Given the description of an element on the screen output the (x, y) to click on. 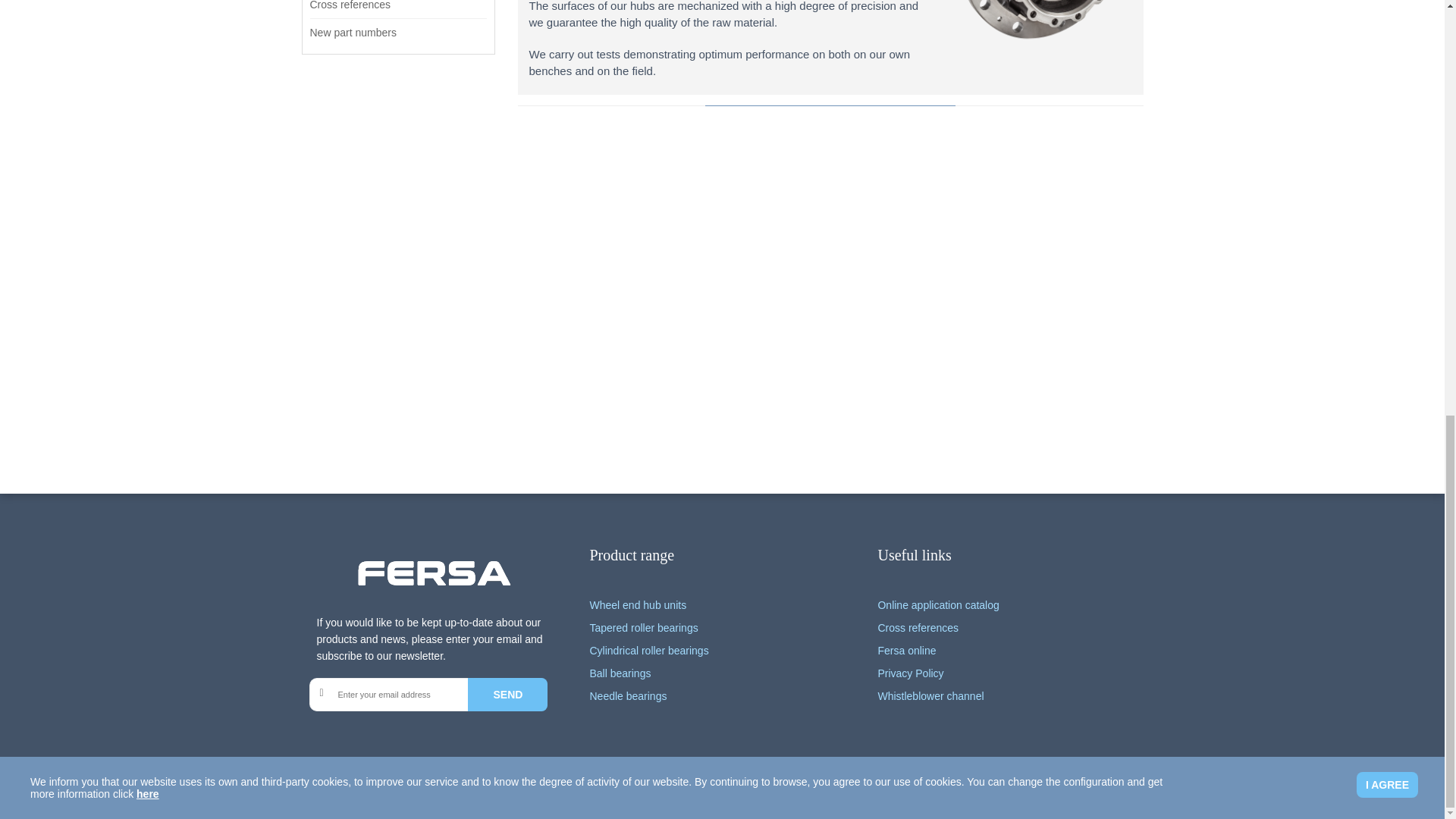
Send (507, 694)
